Given the description of an element on the screen output the (x, y) to click on. 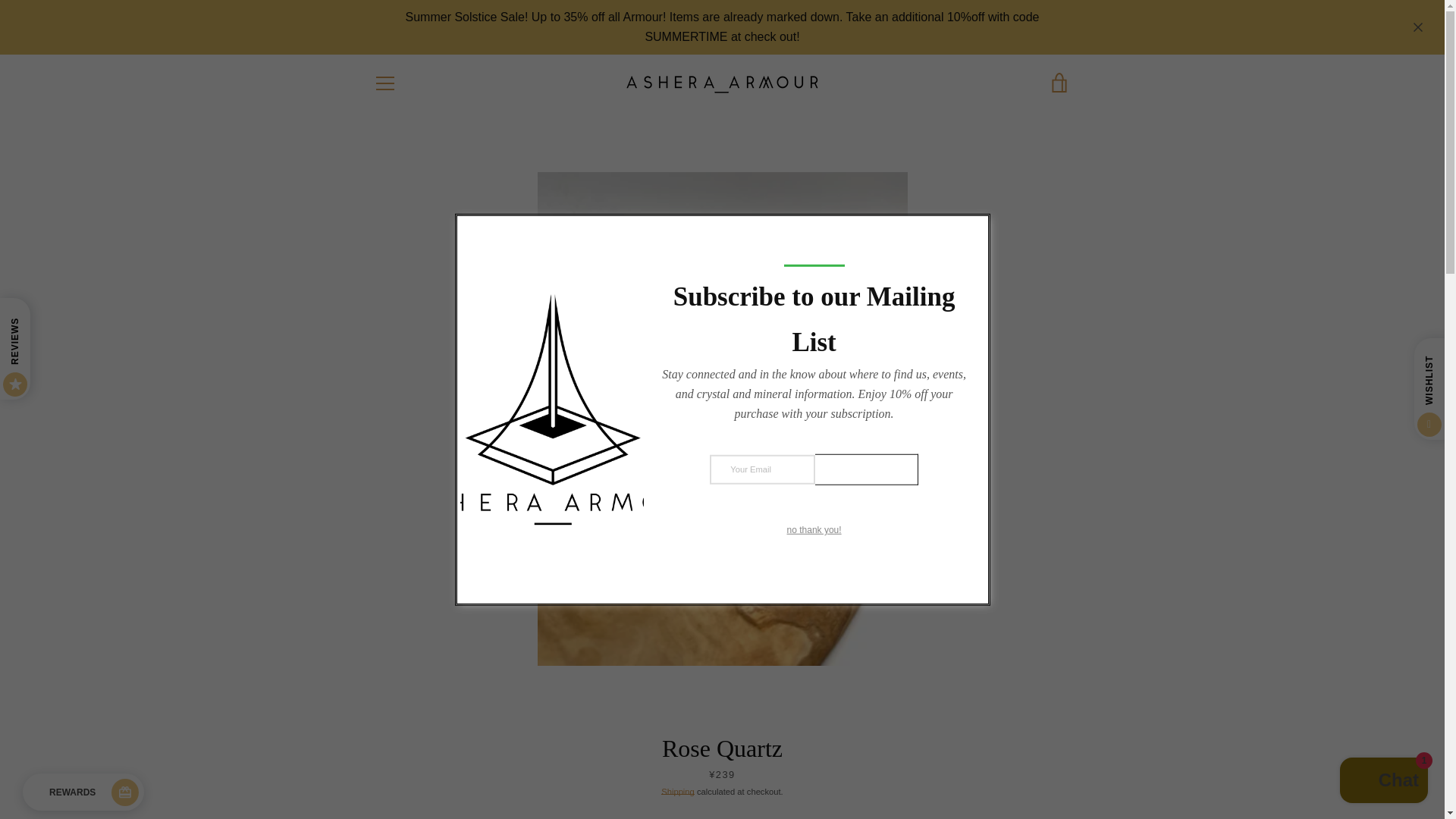
Sign Up (866, 469)
VIEW CART (1059, 82)
Shopify online store chat (1383, 781)
Shipping (677, 791)
MENU (384, 82)
